Given the description of an element on the screen output the (x, y) to click on. 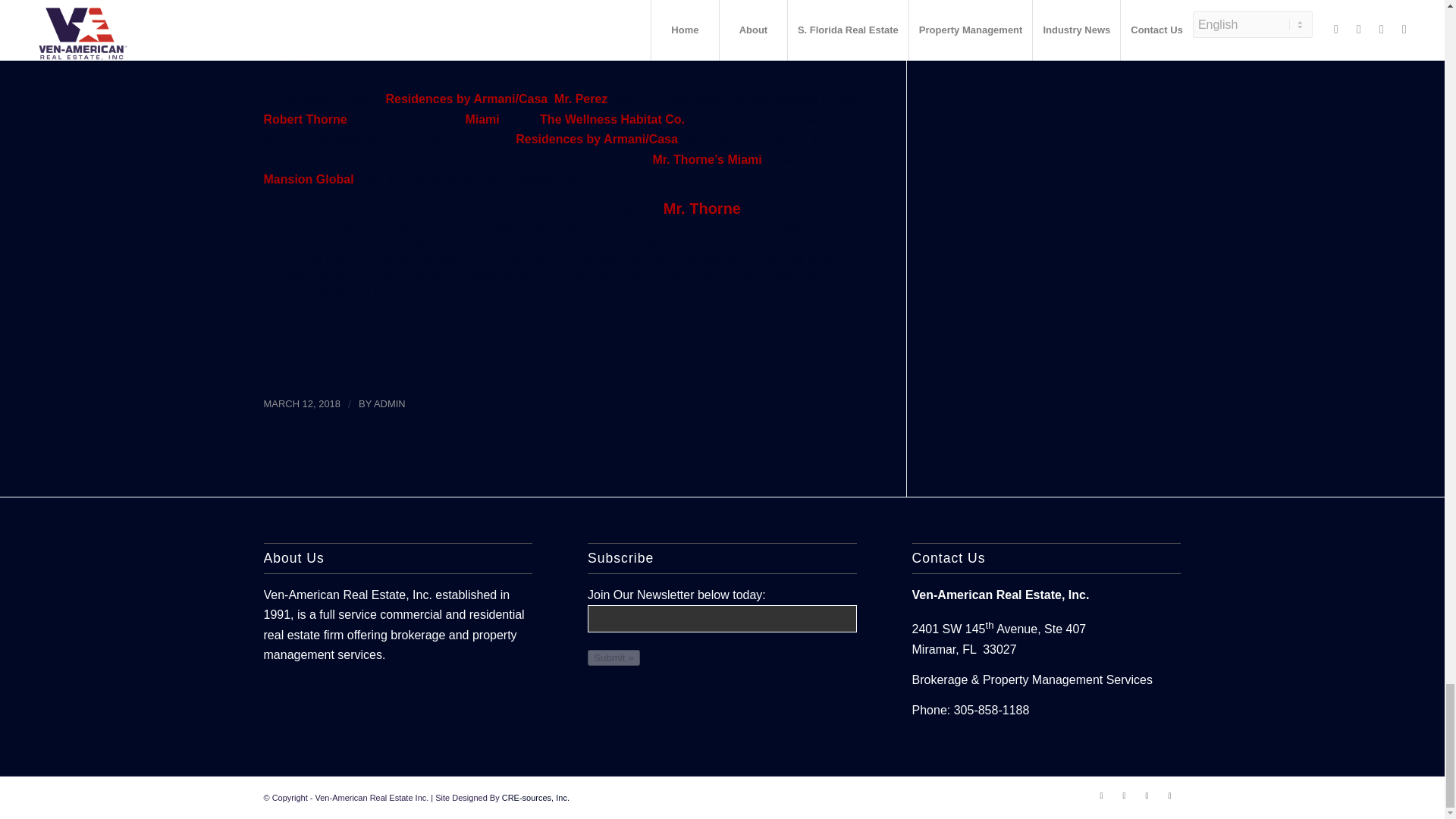
LinkedIn (1146, 794)
CRE-sources, Inc. (535, 797)
Posts by ADMIN (390, 403)
Twitter (1124, 794)
Facebook (1101, 794)
Mansion Global (350, 359)
ADMIN (390, 403)
